Given the description of an element on the screen output the (x, y) to click on. 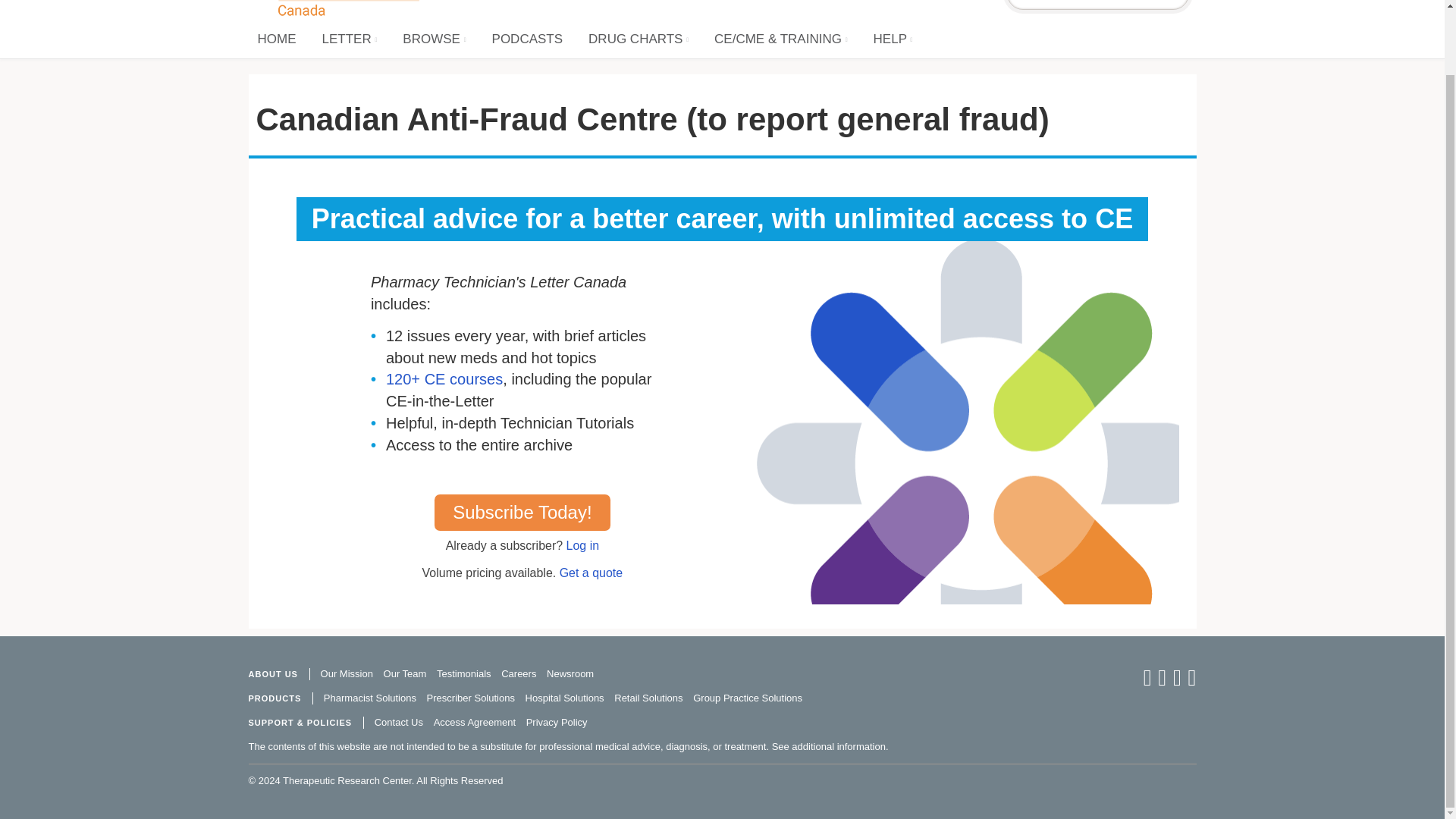
DRUG CHARTS (638, 39)
PODCASTS (527, 39)
HOME (276, 39)
twitter (1160, 681)
Search (1080, 4)
BROWSE (433, 39)
linkedin (1177, 681)
Search (1080, 4)
LETTER (349, 39)
Search (1172, 4)
